Given the description of an element on the screen output the (x, y) to click on. 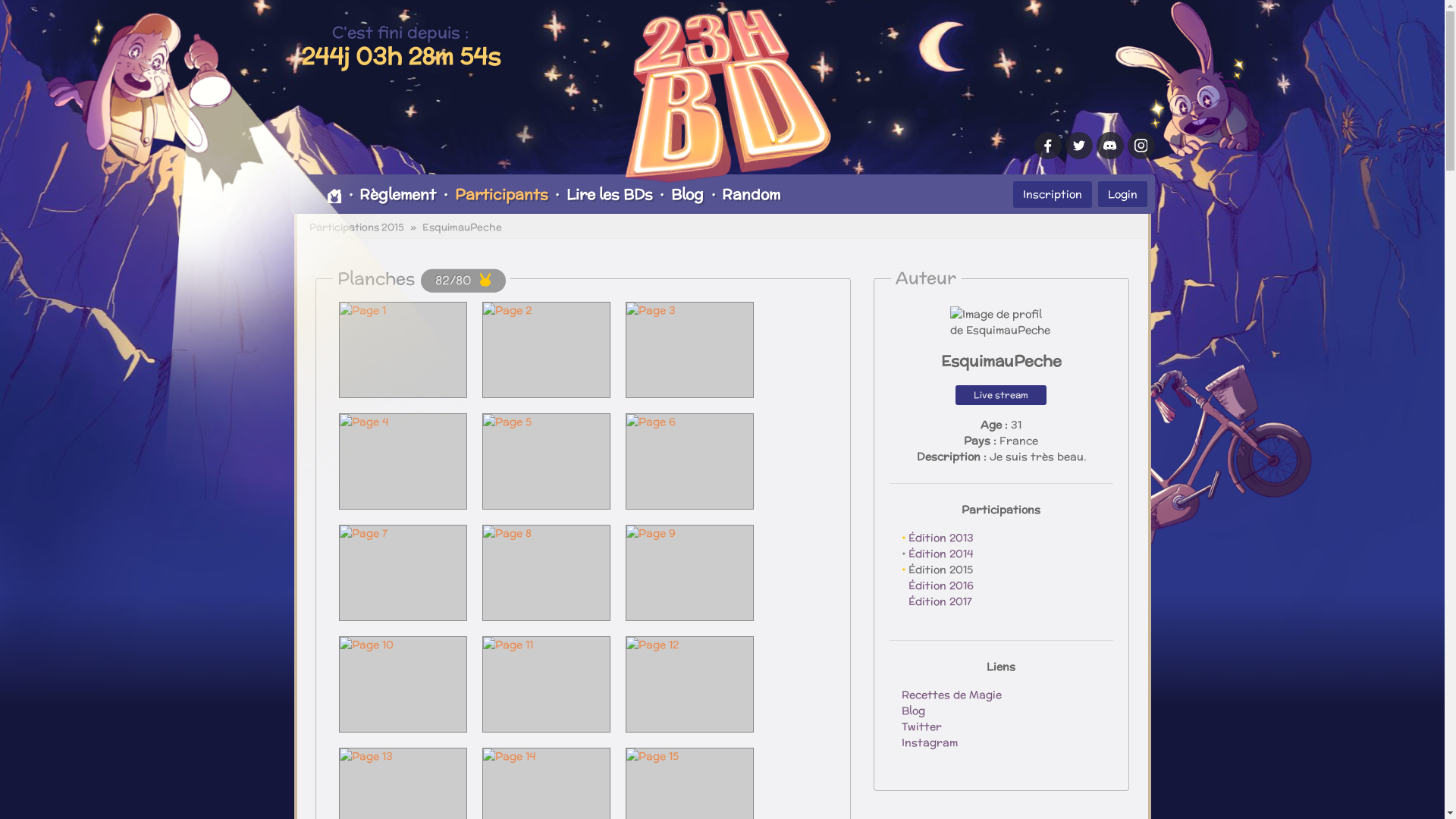
Lire les BDs Element type: text (608, 193)
Instagram Element type: text (928, 741)
Blog Element type: text (912, 710)
EsquimauPeche Element type: text (461, 226)
Notre serveur Discord Element type: text (1109, 145)
Live stream Element type: text (1000, 394)
Random Element type: text (751, 193)
Twitter Element type: text (920, 726)
Participations 2015 Element type: text (356, 226)
Notre compte Twitter Element type: text (1078, 145)
Recettes de Magie Element type: text (950, 694)
Login Element type: text (1122, 193)
Blog Element type: text (686, 193)
Notre compte Instagram Element type: text (1140, 145)
Inscription Element type: text (1052, 193)
Participants Element type: text (501, 193)
Notre page Facebook Element type: text (1047, 145)
